Given the description of an element on the screen output the (x, y) to click on. 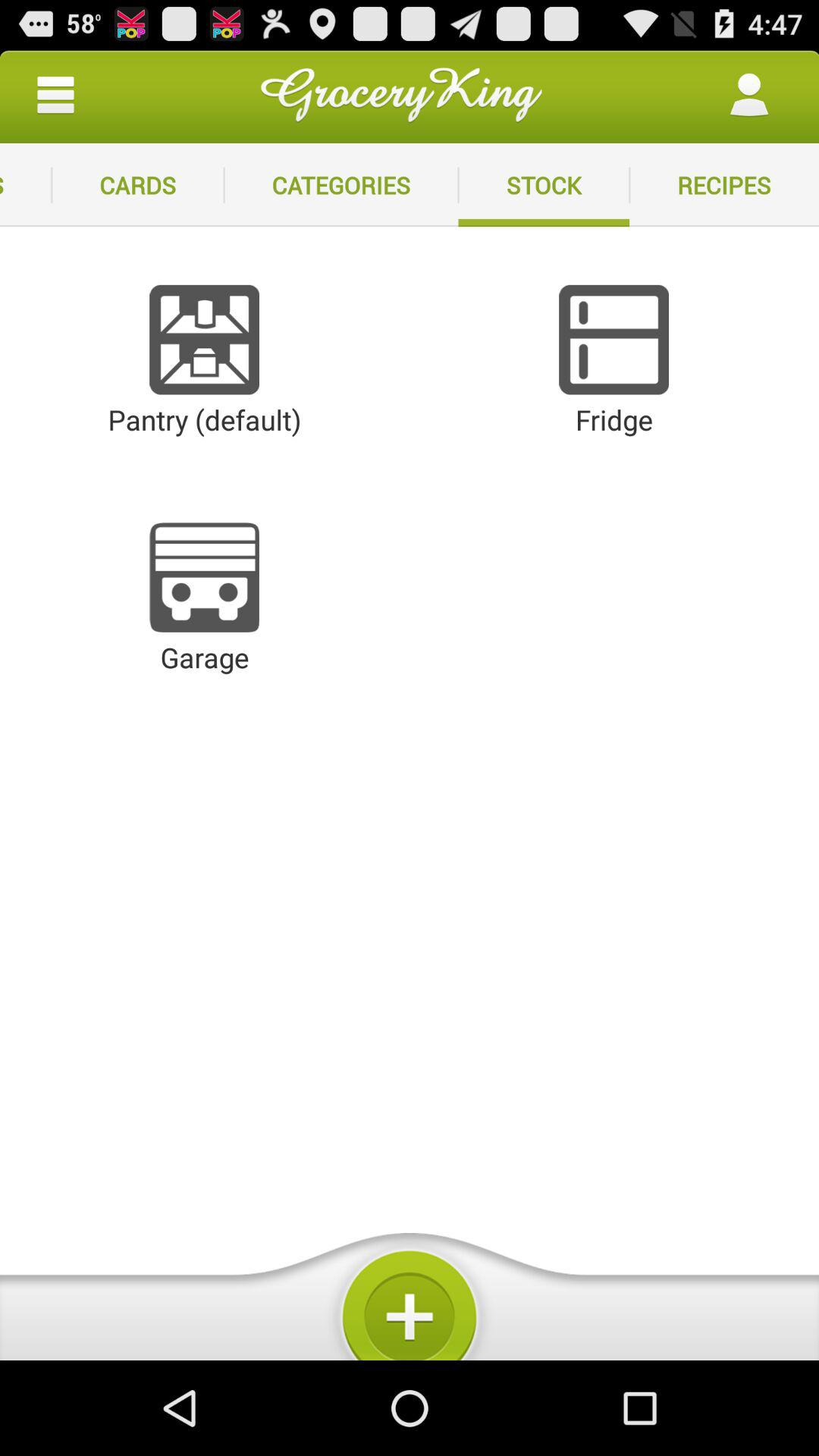
jump to stock item (543, 184)
